Given the description of an element on the screen output the (x, y) to click on. 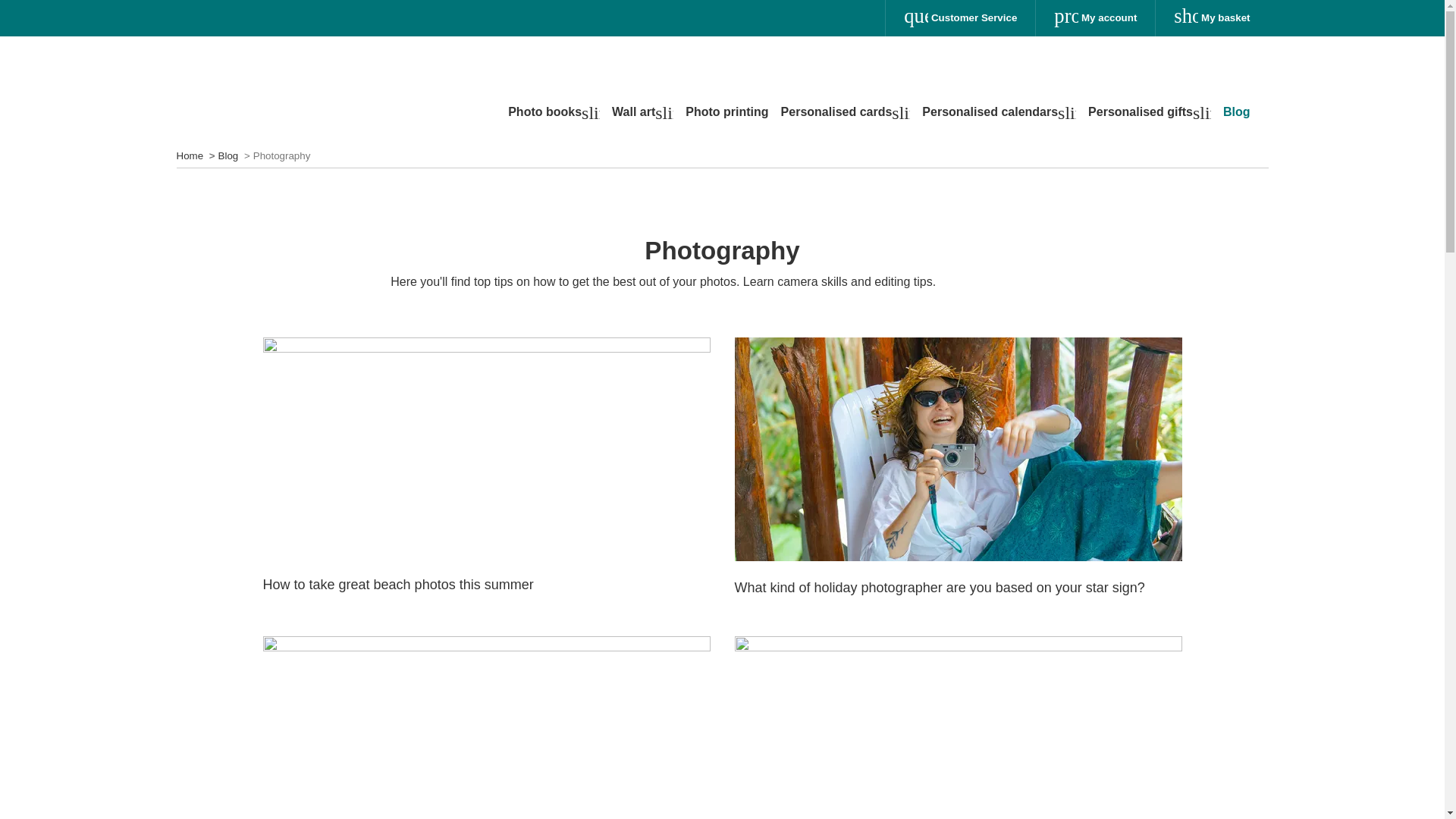
profile My account (1094, 18)
Photo printing (726, 115)
